Given the description of an element on the screen output the (x, y) to click on. 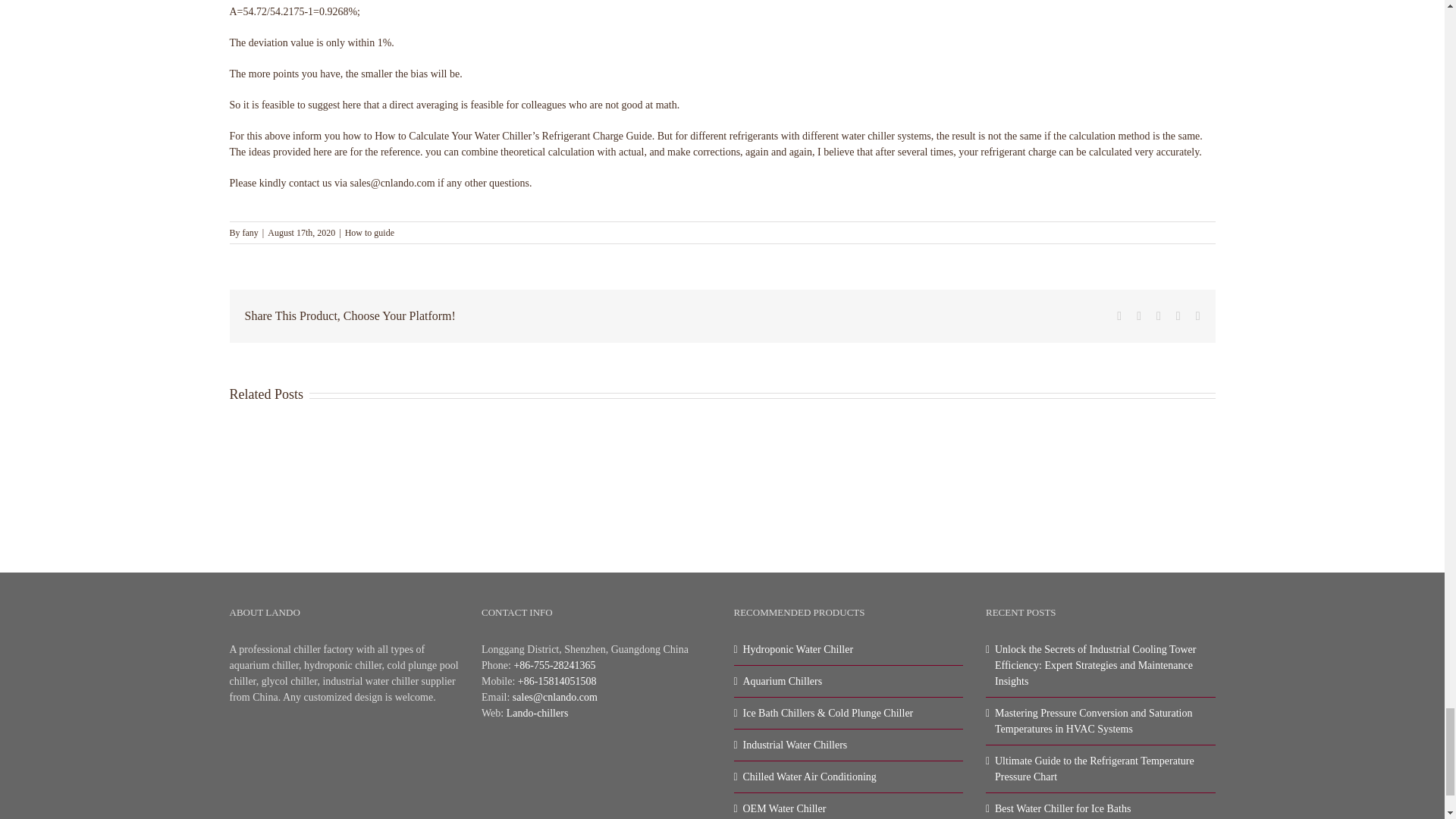
fany (251, 232)
How to guide (369, 232)
Posts by fany (251, 232)
